Given the description of an element on the screen output the (x, y) to click on. 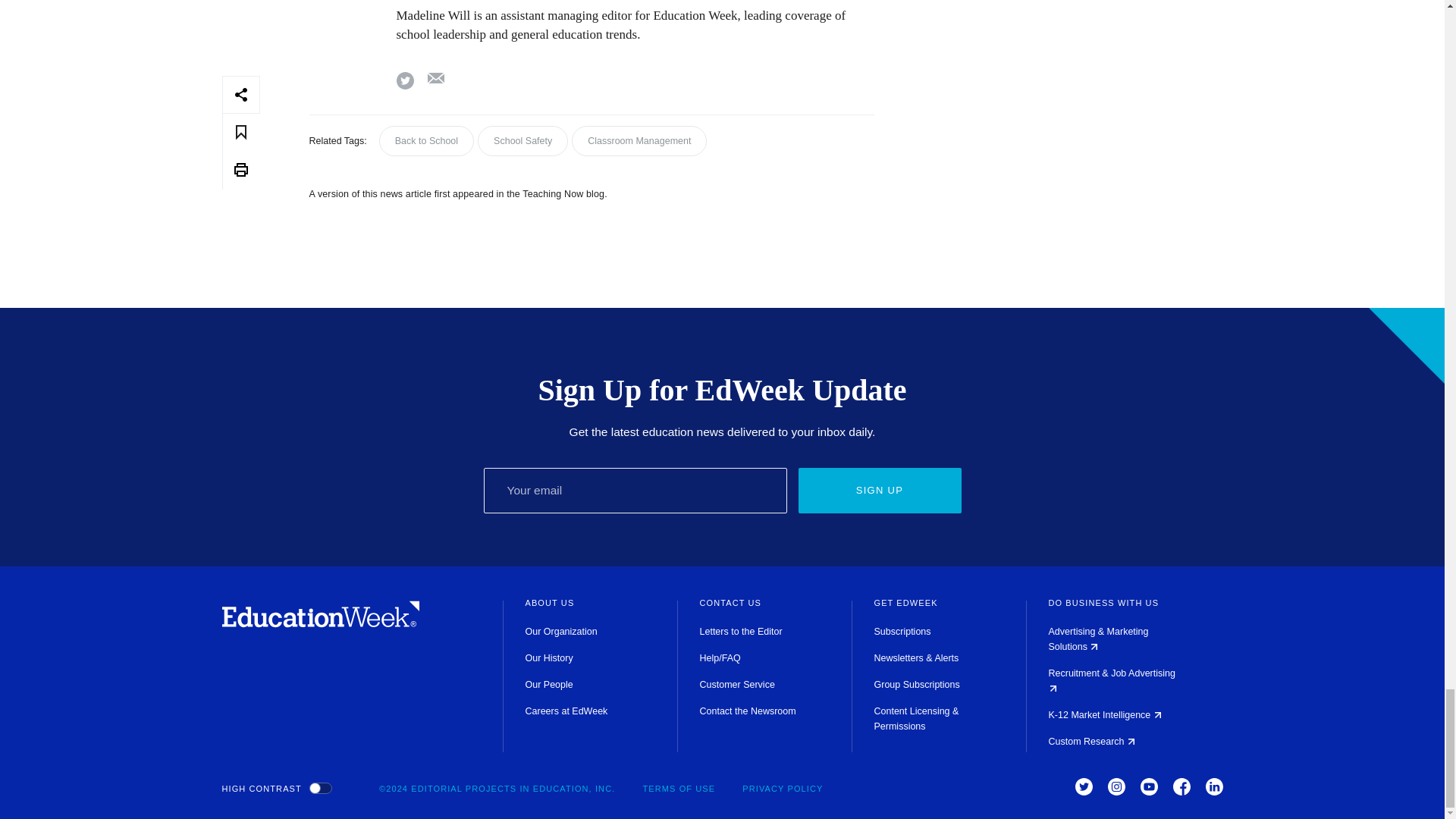
Homepage (320, 623)
